Given the description of an element on the screen output the (x, y) to click on. 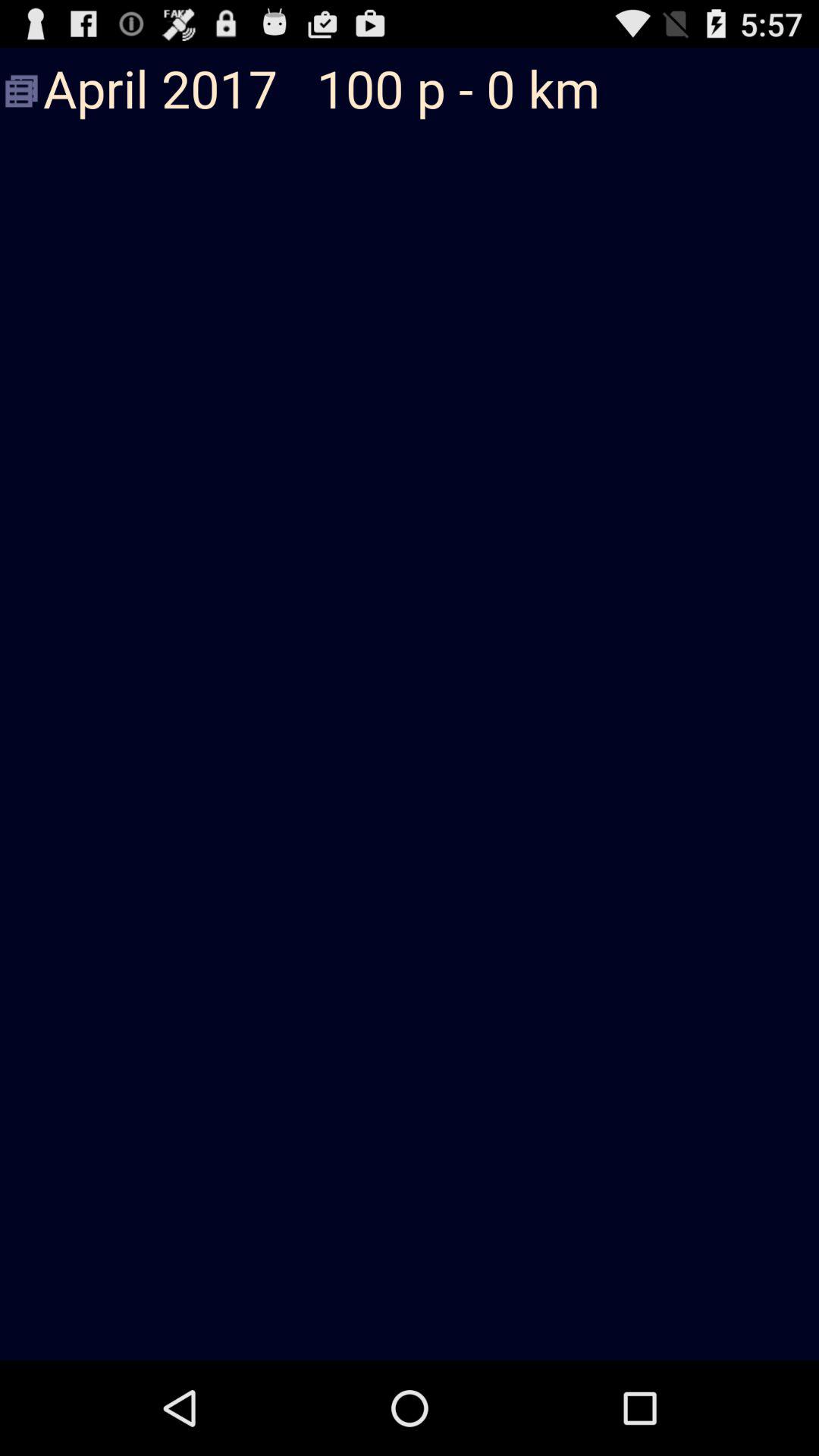
turn on april 2017 100 (409, 90)
